Given the description of an element on the screen output the (x, y) to click on. 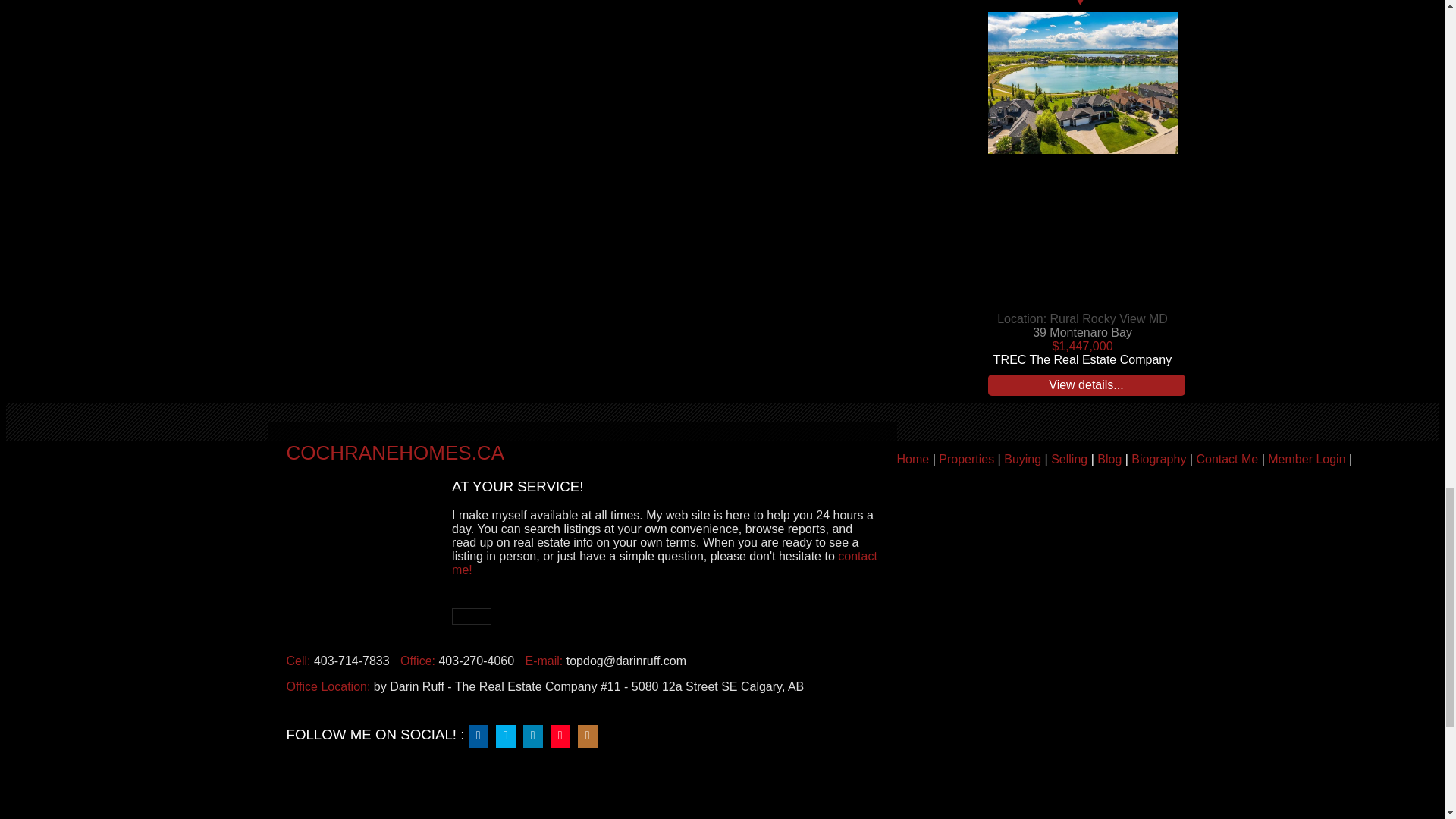
Buying (1022, 459)
Properties (966, 459)
Contact Me (1226, 459)
View details... (1086, 384)
Blog (1109, 459)
Member Login (1306, 459)
Selling (1069, 459)
Biography (1158, 459)
Home (912, 459)
